Given the description of an element on the screen output the (x, y) to click on. 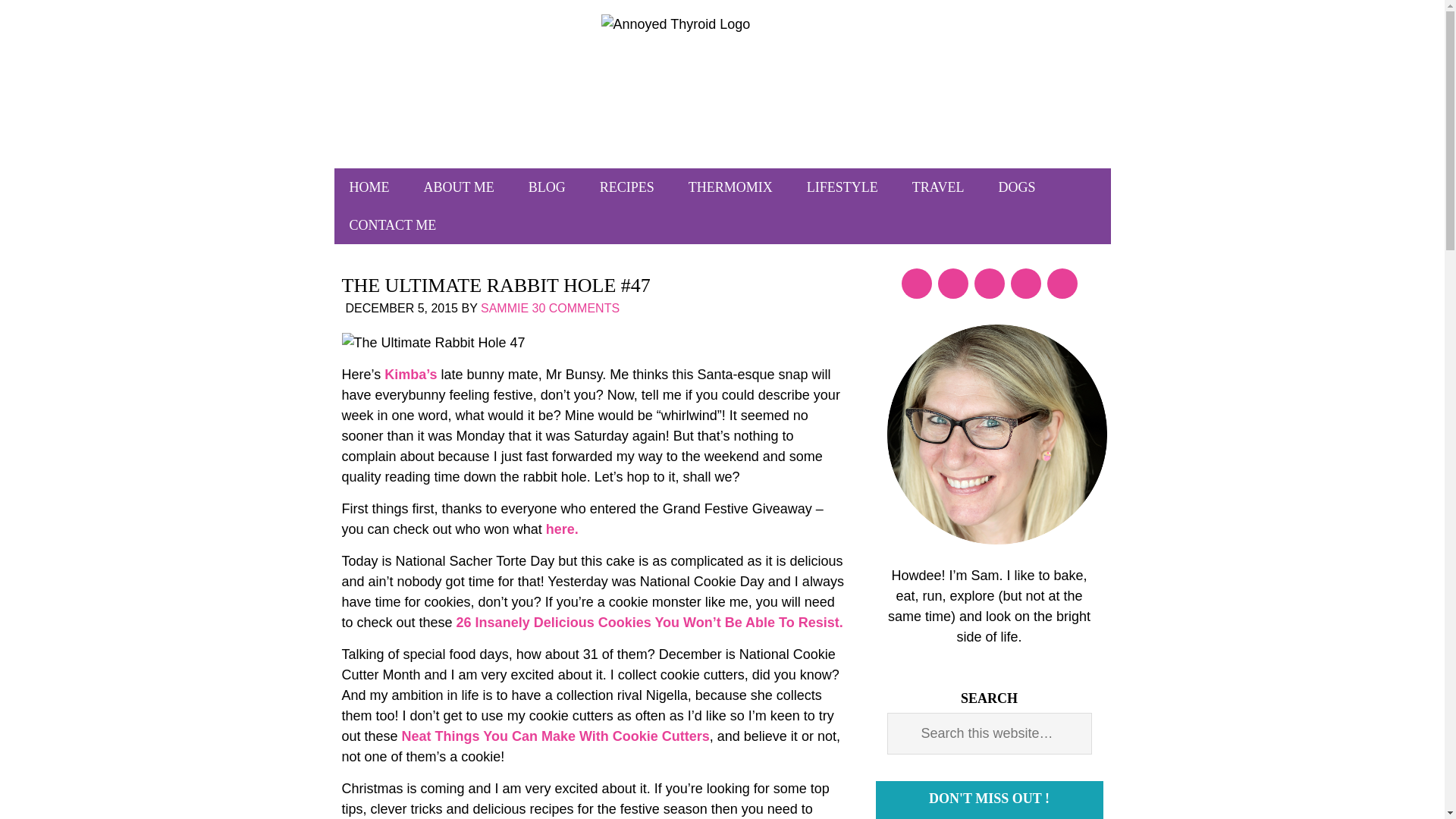
THERMOMIX (729, 187)
HOME (368, 187)
CONTACT ME (392, 225)
here. (562, 529)
RECIPES (627, 187)
ABOUT ME (459, 187)
TRAVEL (937, 187)
BLOG (546, 187)
30 COMMENTS (576, 308)
LIFESTYLE (842, 187)
